Given the description of an element on the screen output the (x, y) to click on. 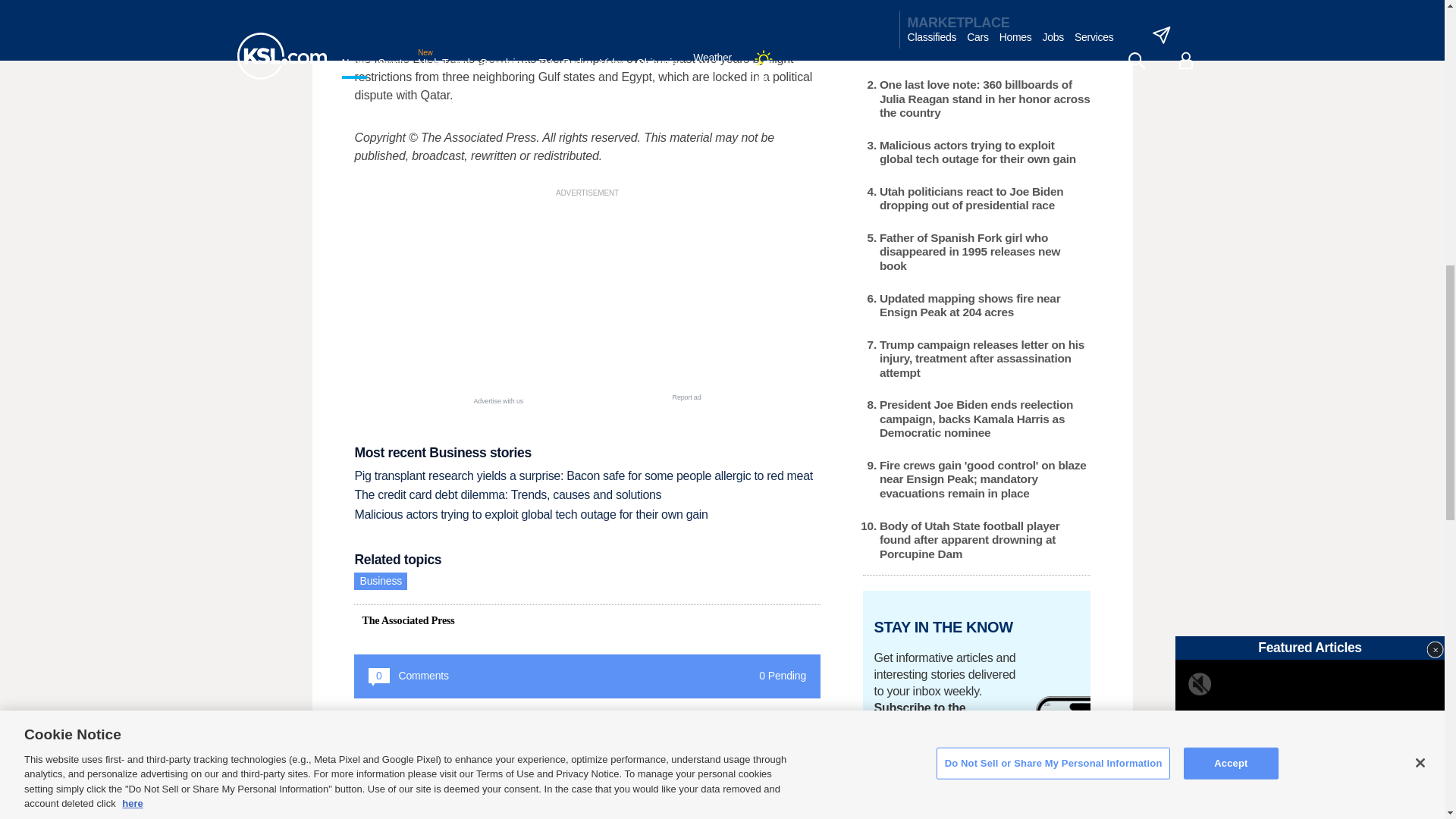
3rd party ad content (586, 296)
